Given the description of an element on the screen output the (x, y) to click on. 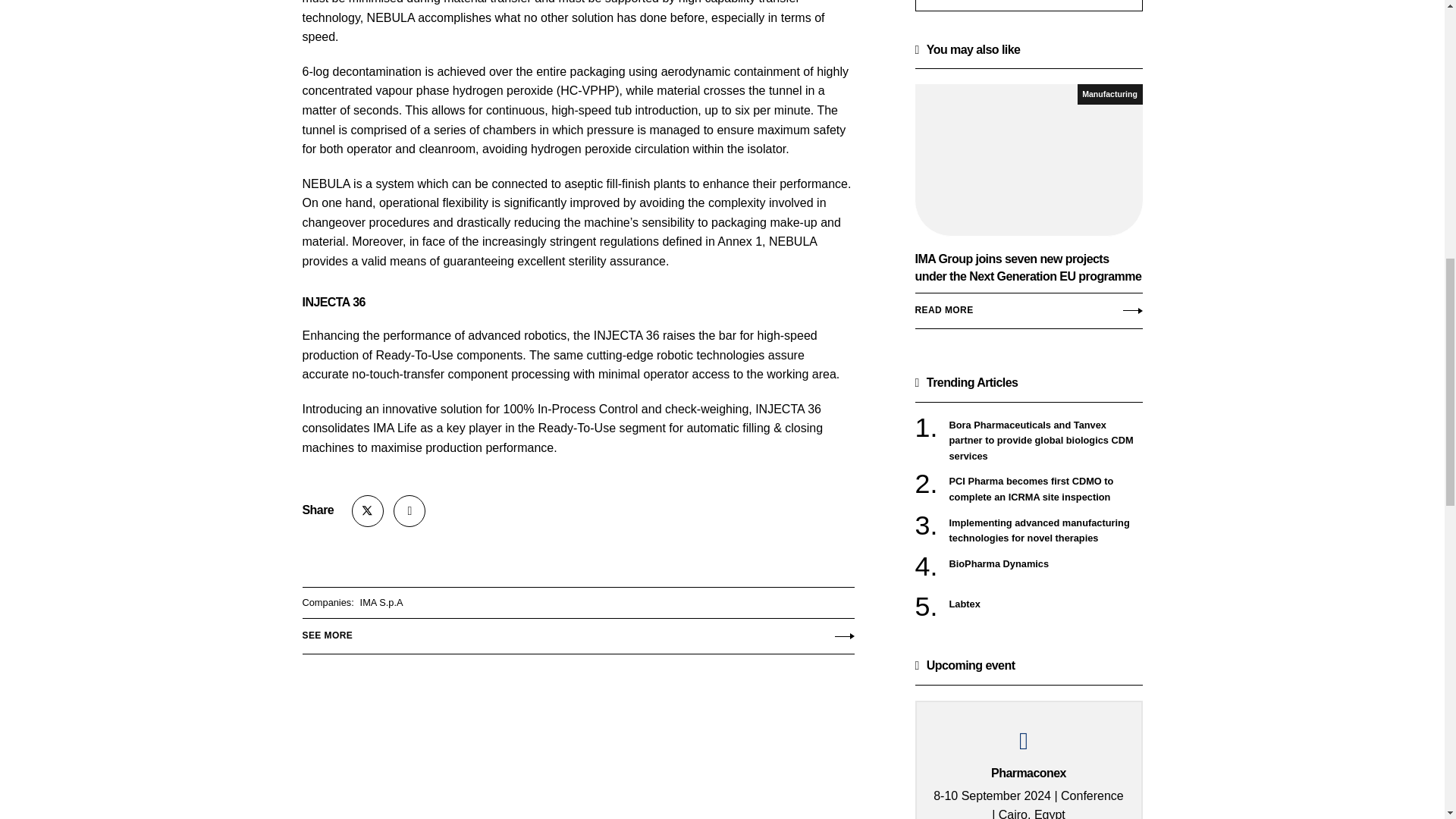
Manufacturing (1109, 94)
SEE MORE (577, 632)
Follow Manufacturing Chemist on X (368, 511)
BioPharma Dynamics (1045, 563)
Labtex (1045, 604)
X (368, 511)
LinkedIn (409, 511)
Follow Manufacturing Chemist on LinkedIn (409, 511)
